Given the description of an element on the screen output the (x, y) to click on. 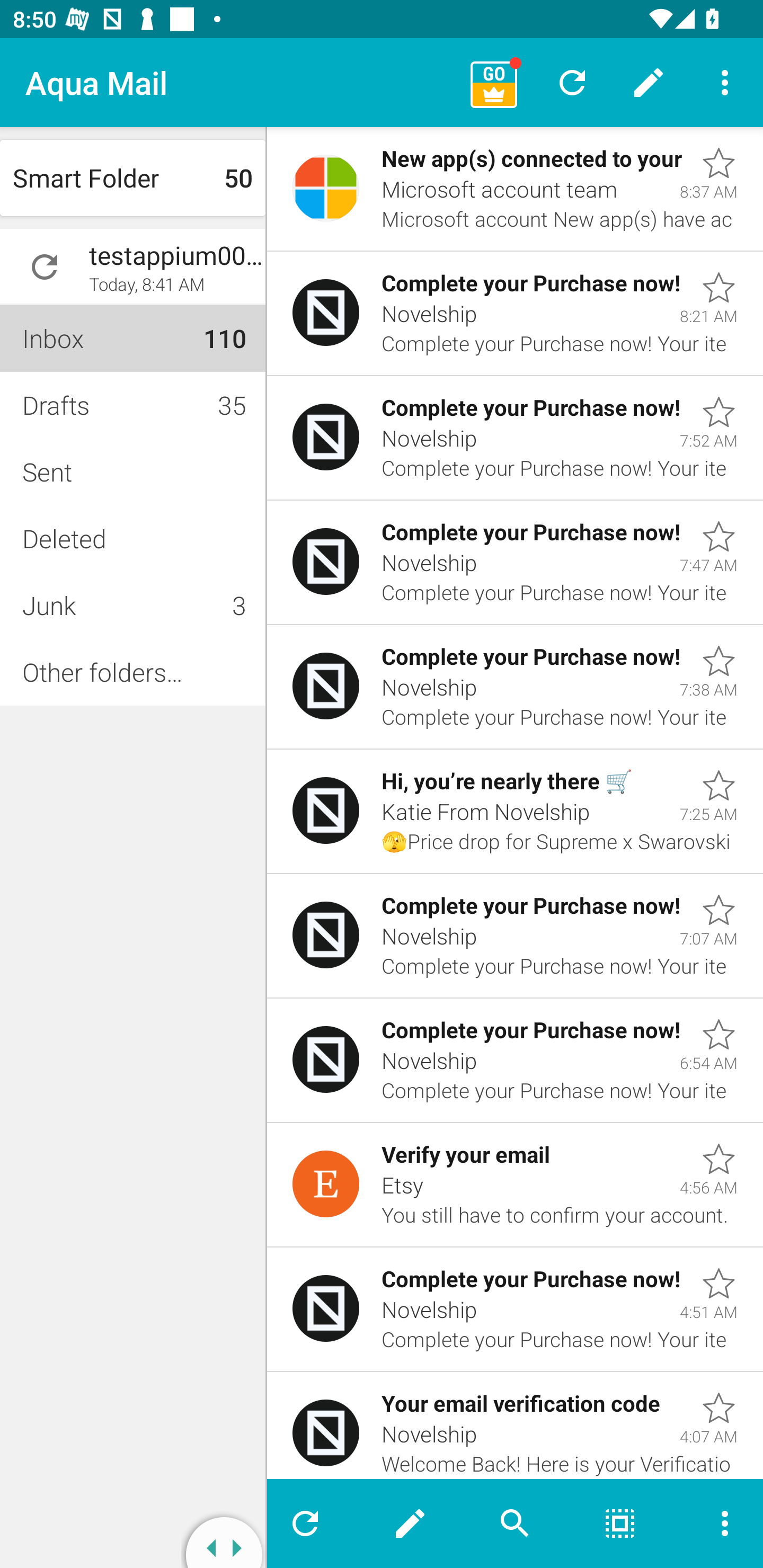
Refresh all (572, 82)
New message (648, 82)
More options (724, 81)
Smart Folder 50 50 unread, 50 total messages (132, 177)
Refresh account (44, 266)
Sent Folder: Sent 24 total messages (132, 471)
Deleted Folder: Deleted 0 total messages (132, 538)
Junk Folder: Junk 3 3 total messages (132, 605)
Other folders… (132, 671)
Refresh (312, 1523)
New message (409, 1523)
Search (514, 1523)
Select all (619, 1523)
More options (717, 1522)
